Given the description of an element on the screen output the (x, y) to click on. 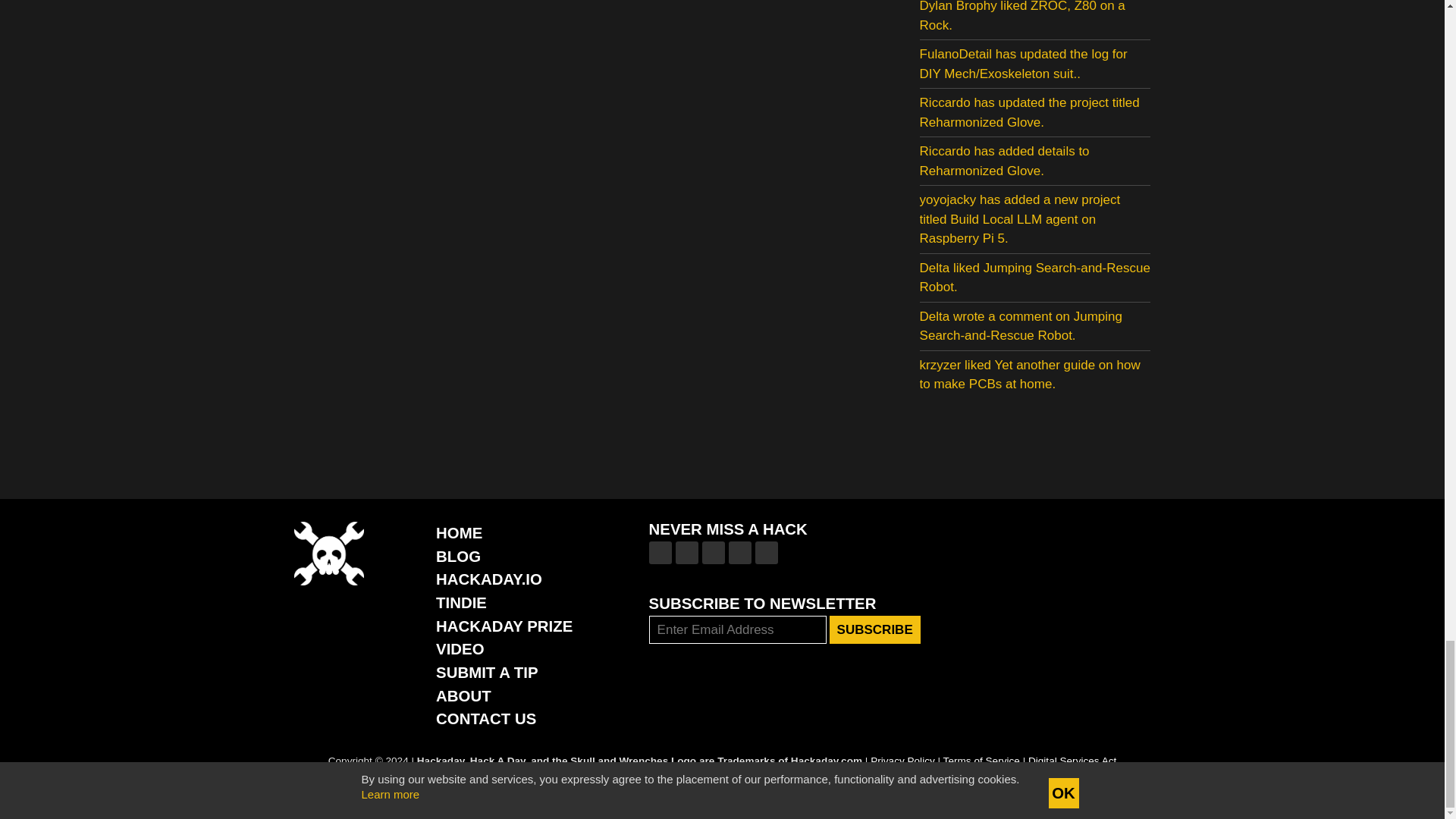
Build Something that Matters (503, 626)
Subscribe (874, 629)
